Given the description of an element on the screen output the (x, y) to click on. 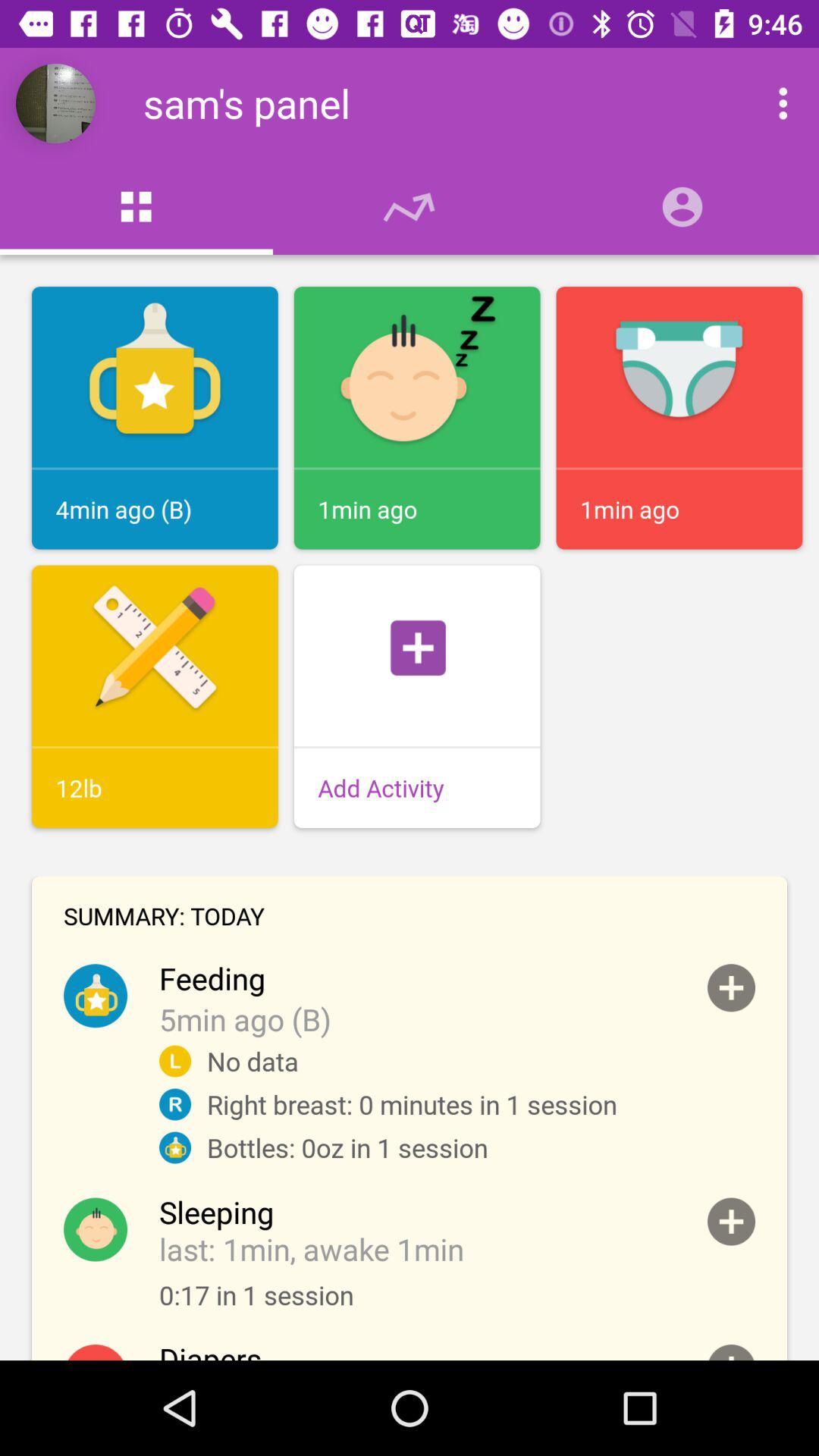
setting option (767, 103)
